Given the description of an element on the screen output the (x, y) to click on. 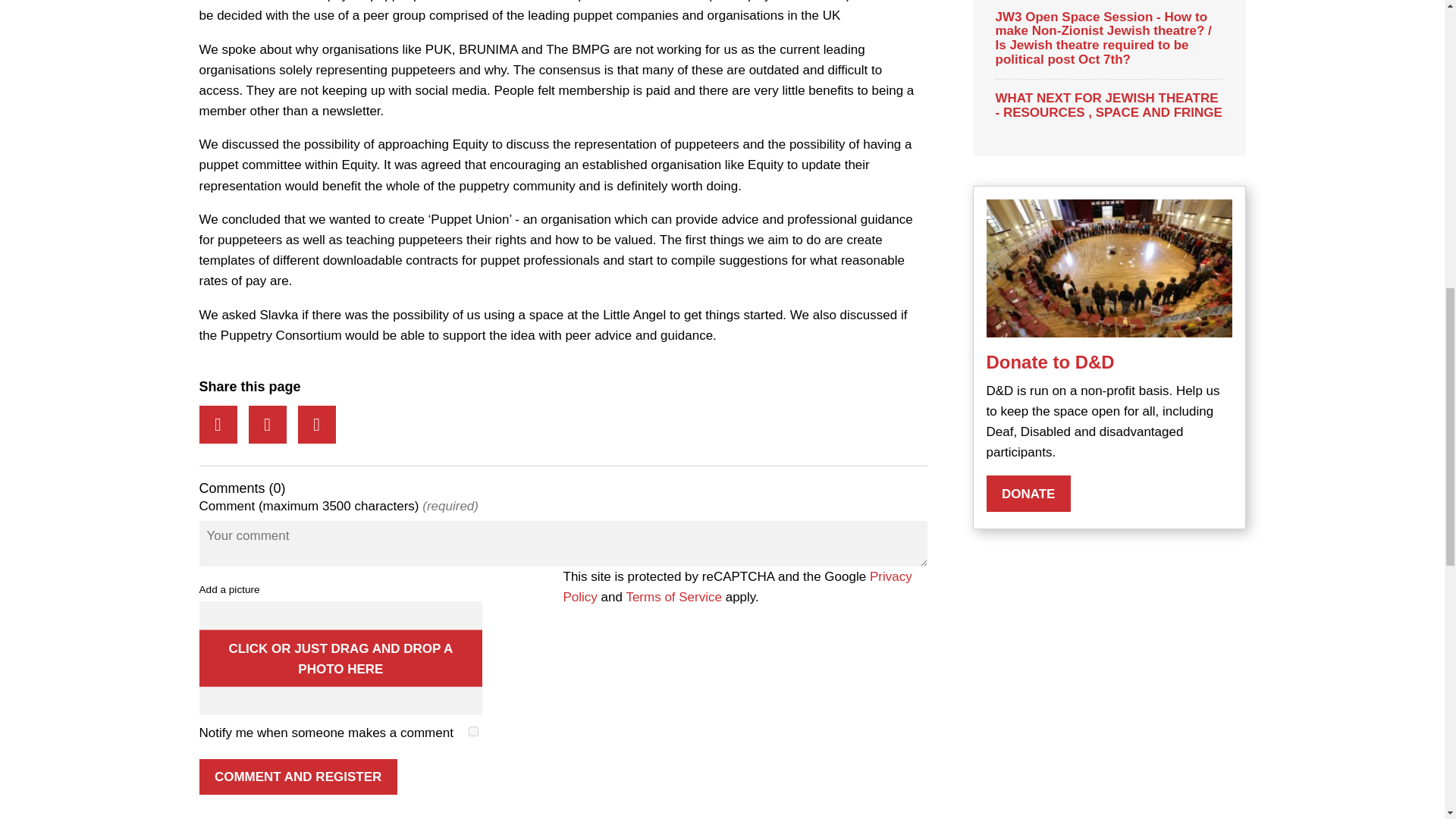
on (473, 731)
